Given the description of an element on the screen output the (x, y) to click on. 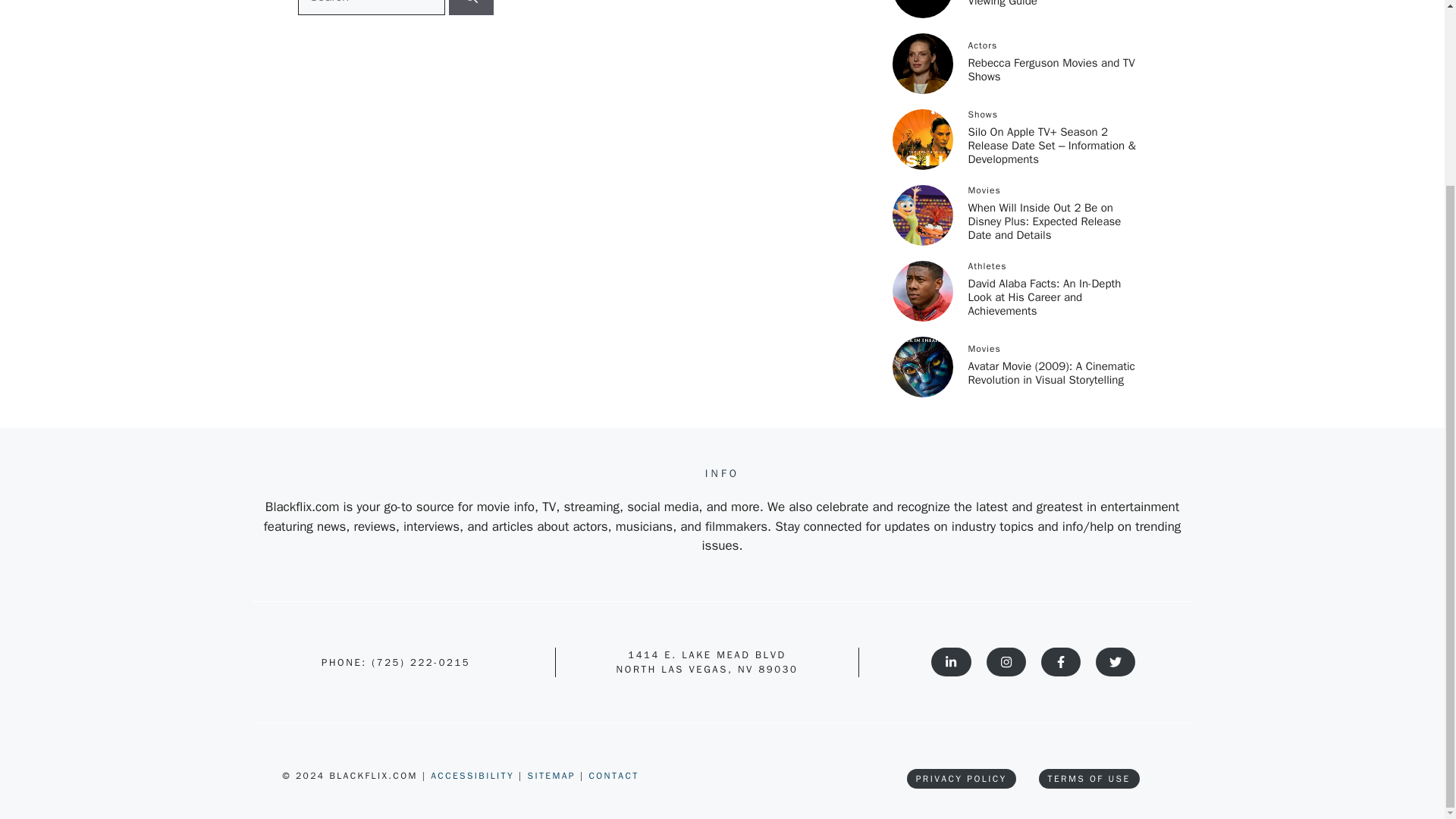
Search for: (370, 7)
ACCESSIBILITY  (474, 775)
Rebecca Ferguson Movies and TV Shows (1051, 69)
SITEMAP  (553, 775)
TERMS OF USE (1089, 778)
Where to Watch Shark Week: Viewing Guide (1040, 3)
PRIVACY POLICY (961, 778)
CONTACT (613, 775)
